Given the description of an element on the screen output the (x, y) to click on. 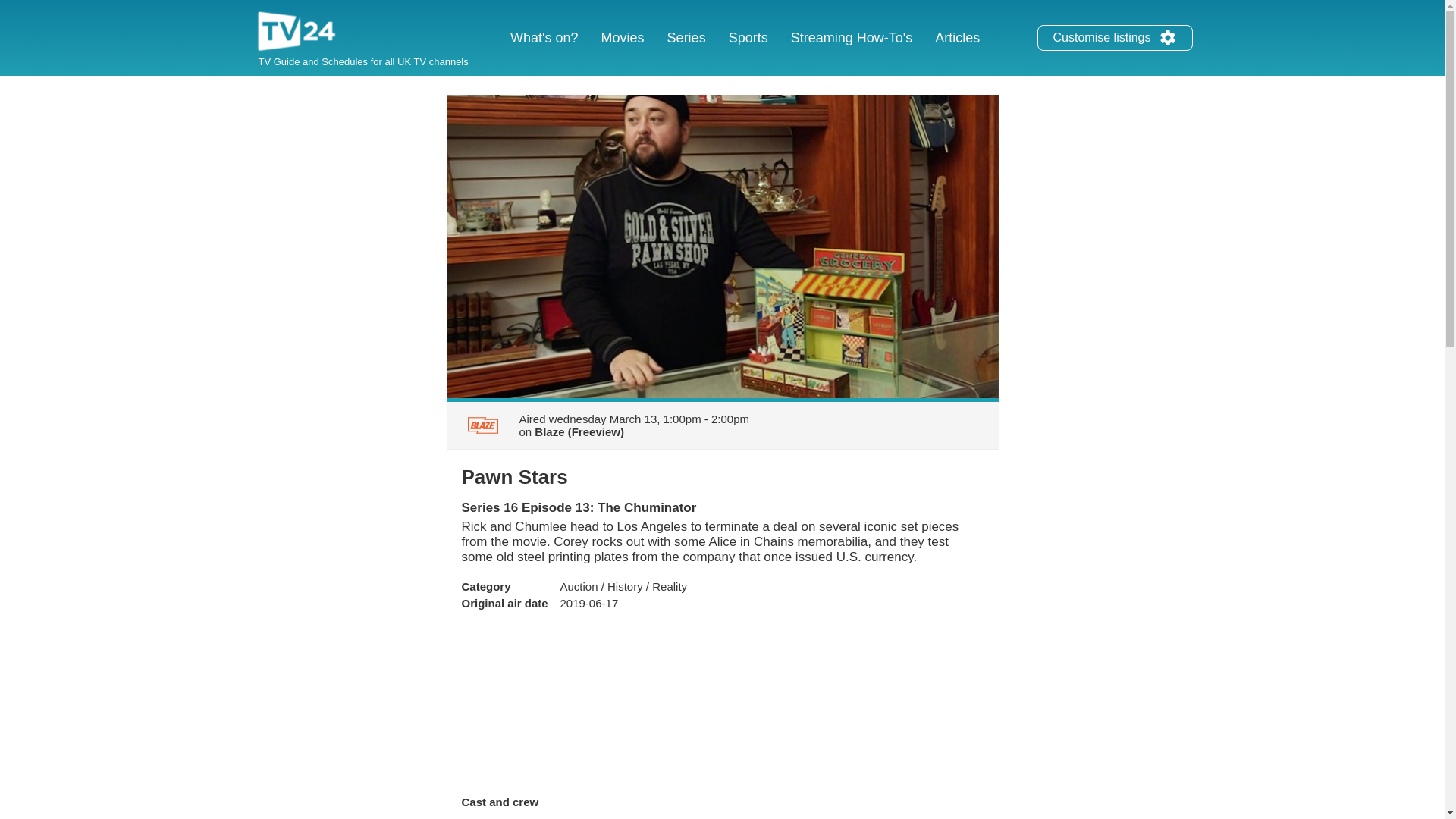
Movies (621, 37)
Series (686, 37)
Customise listings (1167, 37)
Sports (748, 37)
Streaming How-To's (852, 37)
Articles (957, 37)
What's on? (543, 37)
Customise listings (1114, 37)
TV24.co.uk (296, 33)
